Given the description of an element on the screen output the (x, y) to click on. 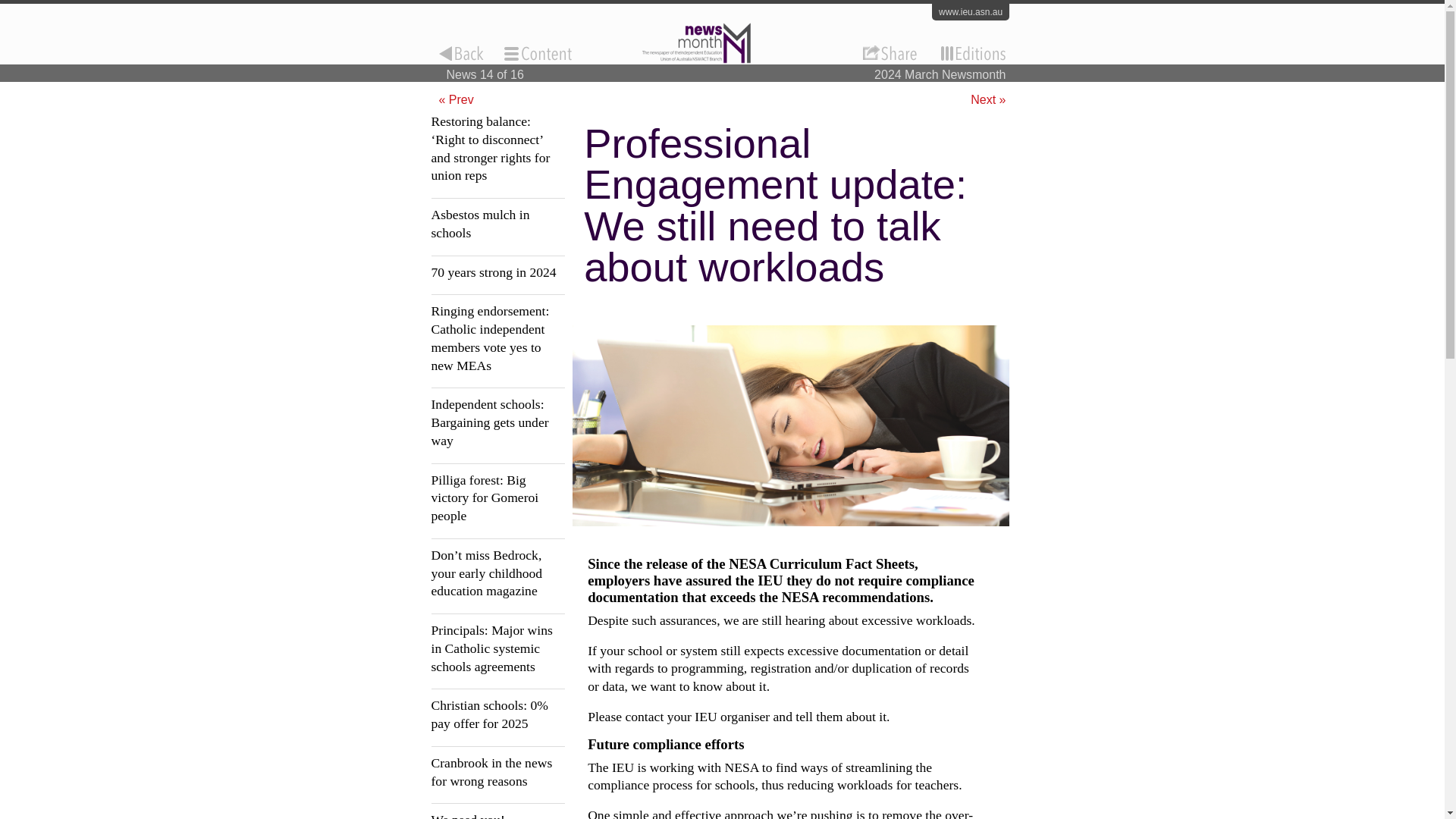
www.ieu.asn.au (970, 12)
